Given the description of an element on the screen output the (x, y) to click on. 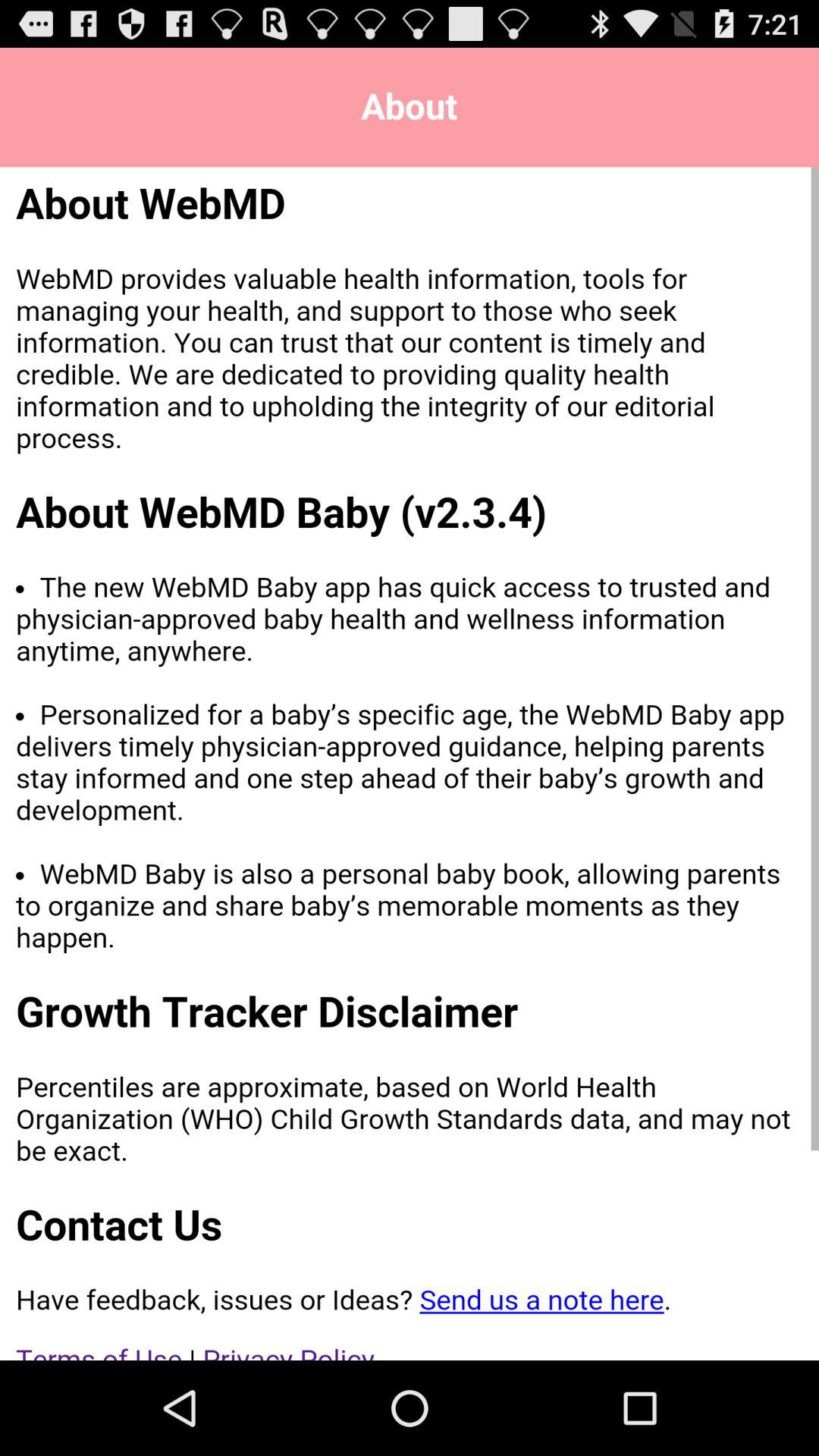
about and contact (409, 763)
